Given the description of an element on the screen output the (x, y) to click on. 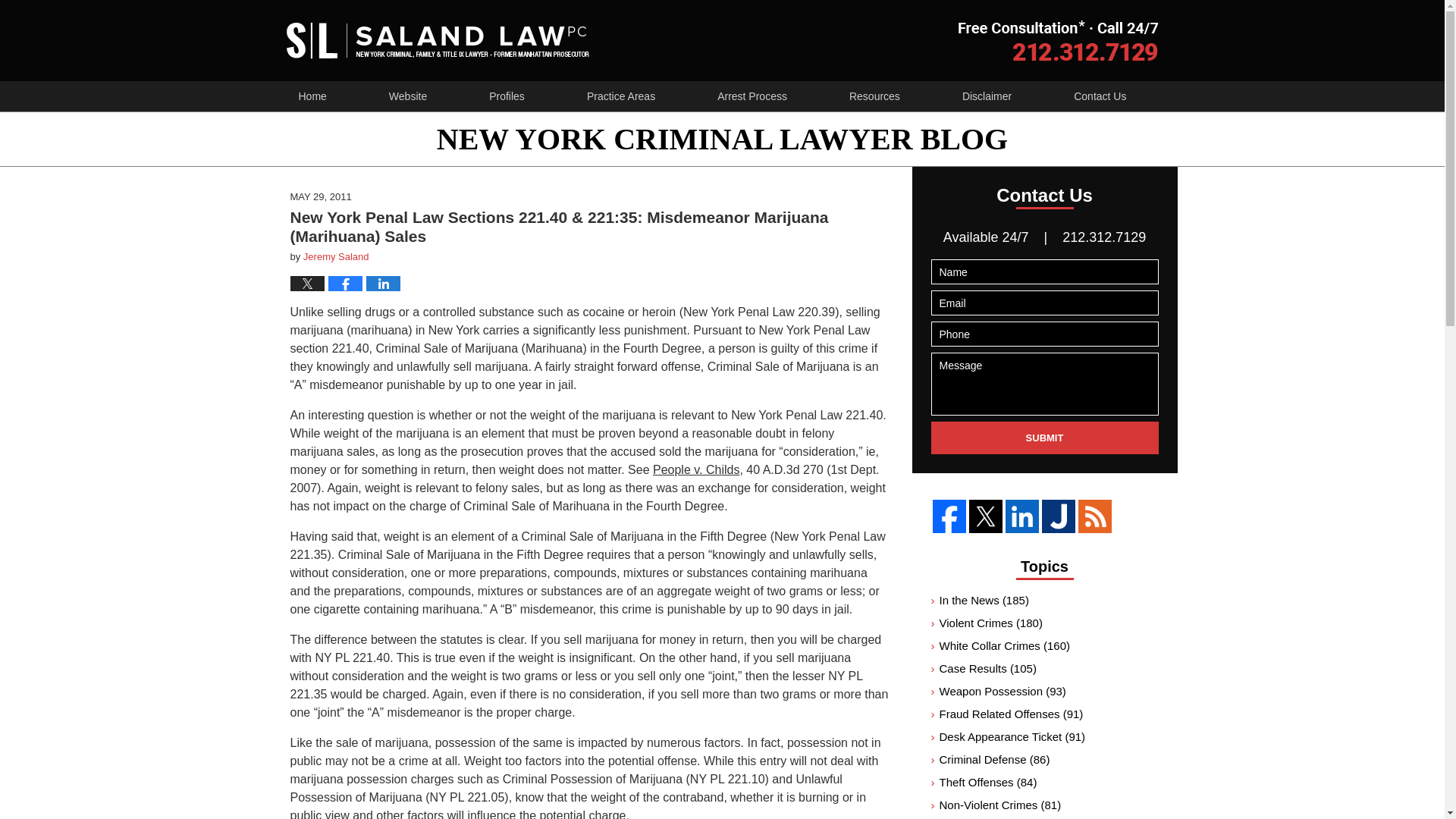
Home (311, 96)
Profiles (507, 96)
Please enter a valid phone number. (1044, 333)
Resources (874, 96)
Arrest Process (751, 96)
SUBMIT (1044, 437)
Published By Saland Law PC (1058, 40)
Facebook (949, 516)
Twitter (986, 516)
Disclaimer (986, 96)
